Given the description of an element on the screen output the (x, y) to click on. 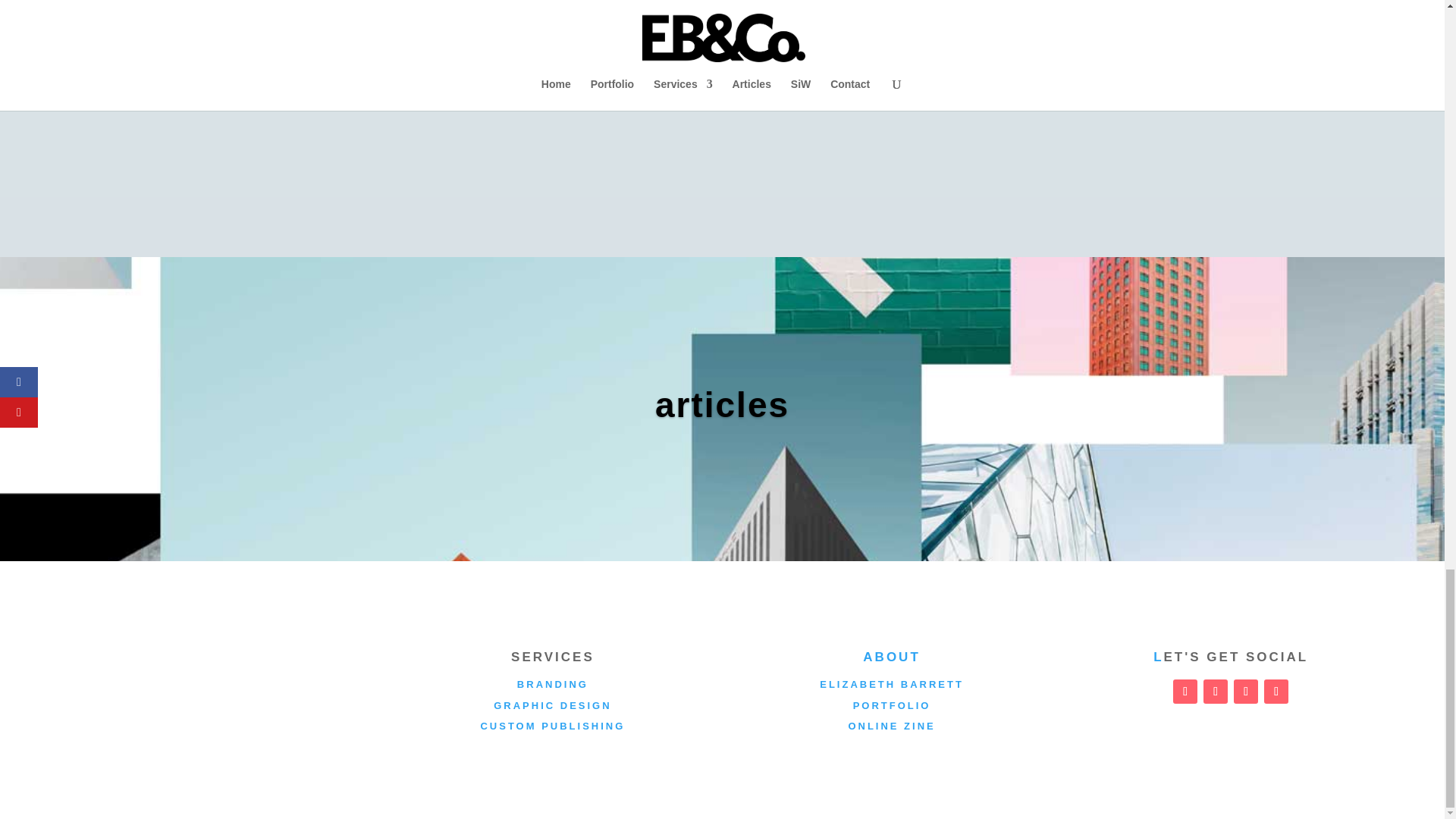
ELIZABETH BARRETT (891, 684)
Twitter (1215, 691)
LinkedIn (1275, 691)
CUSTOM PUBLISHING (552, 726)
ONLINE ZINE (890, 726)
Home (891, 657)
GRAPHIC DESIGN (552, 705)
PORTFOLIO (892, 705)
BRANDING (552, 684)
articles (722, 435)
